Given the description of an element on the screen output the (x, y) to click on. 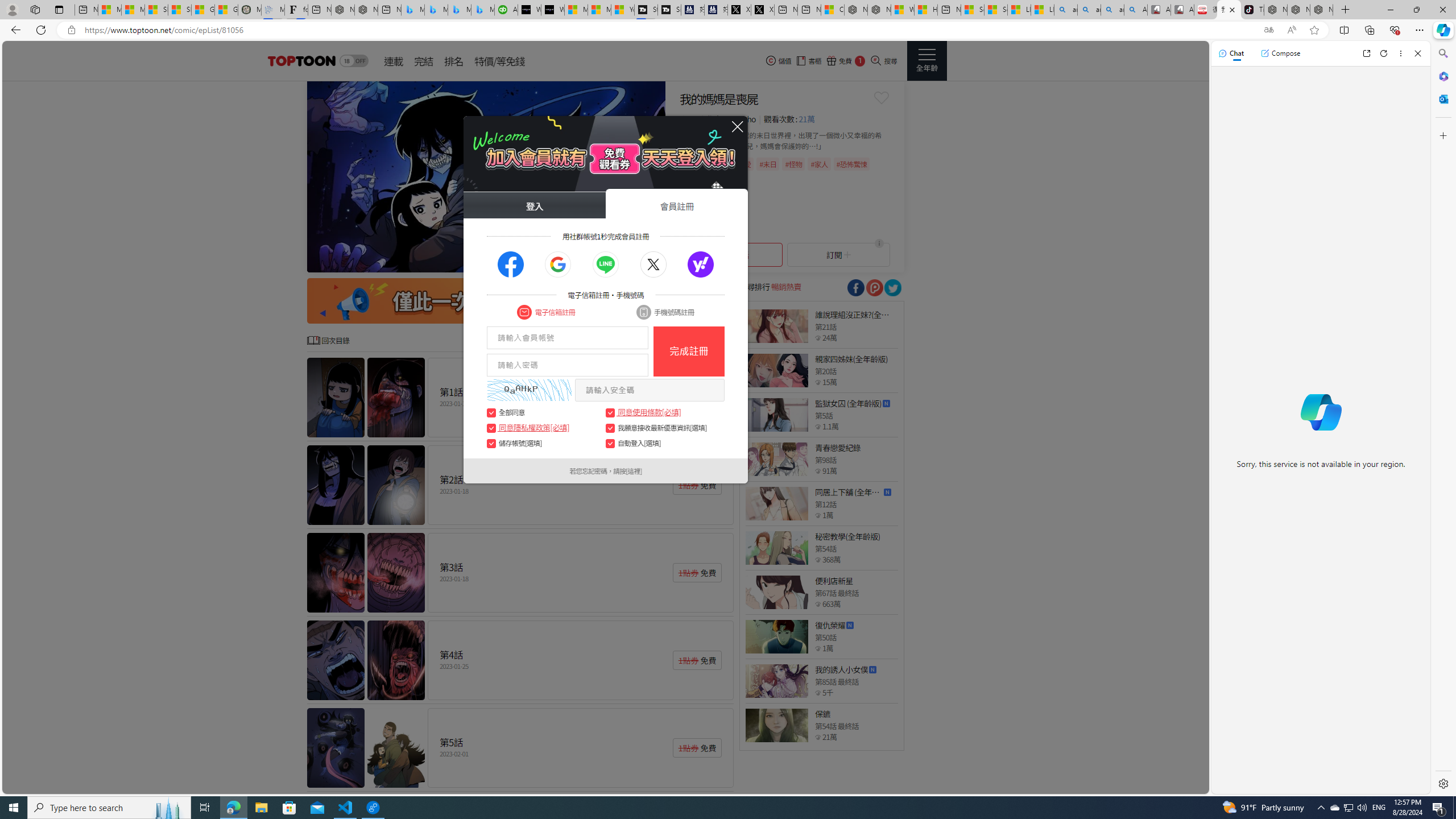
Accounting Software for Accountants, CPAs and Bookkeepers (505, 9)
Class: side_menu_btn actionRightMenuBtn (926, 60)
Go to slide 8 (633, 261)
Class: epicon_starpoint (818, 736)
